Given the description of an element on the screen output the (x, y) to click on. 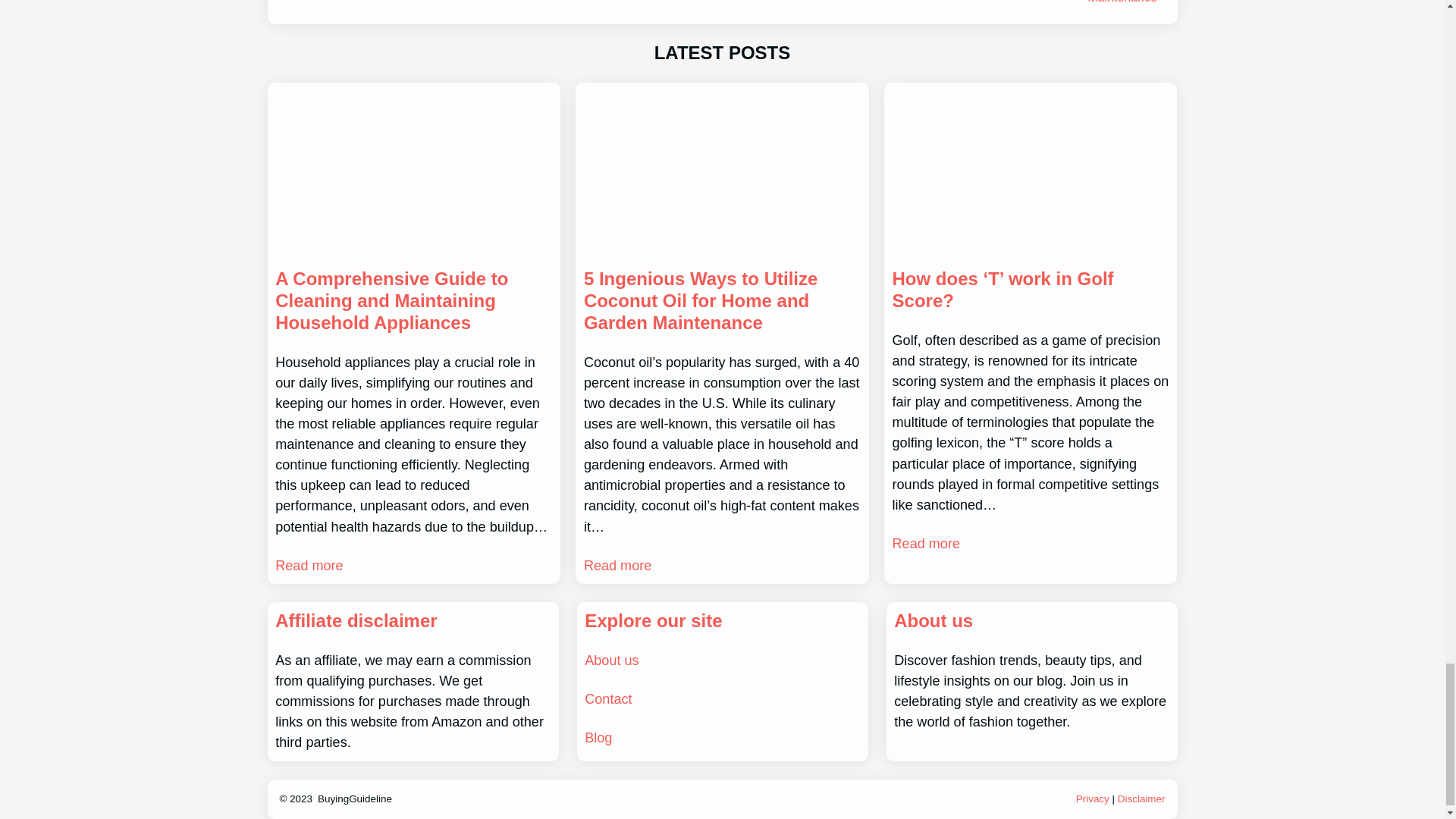
BuyingGuideline (354, 798)
About us (612, 660)
Contact (608, 698)
Read more (308, 566)
How does 'T' work in Golf Score? 13 (1030, 170)
Read more (925, 543)
Read more (616, 566)
Blog (598, 737)
Privacy (1092, 798)
